Given the description of an element on the screen output the (x, y) to click on. 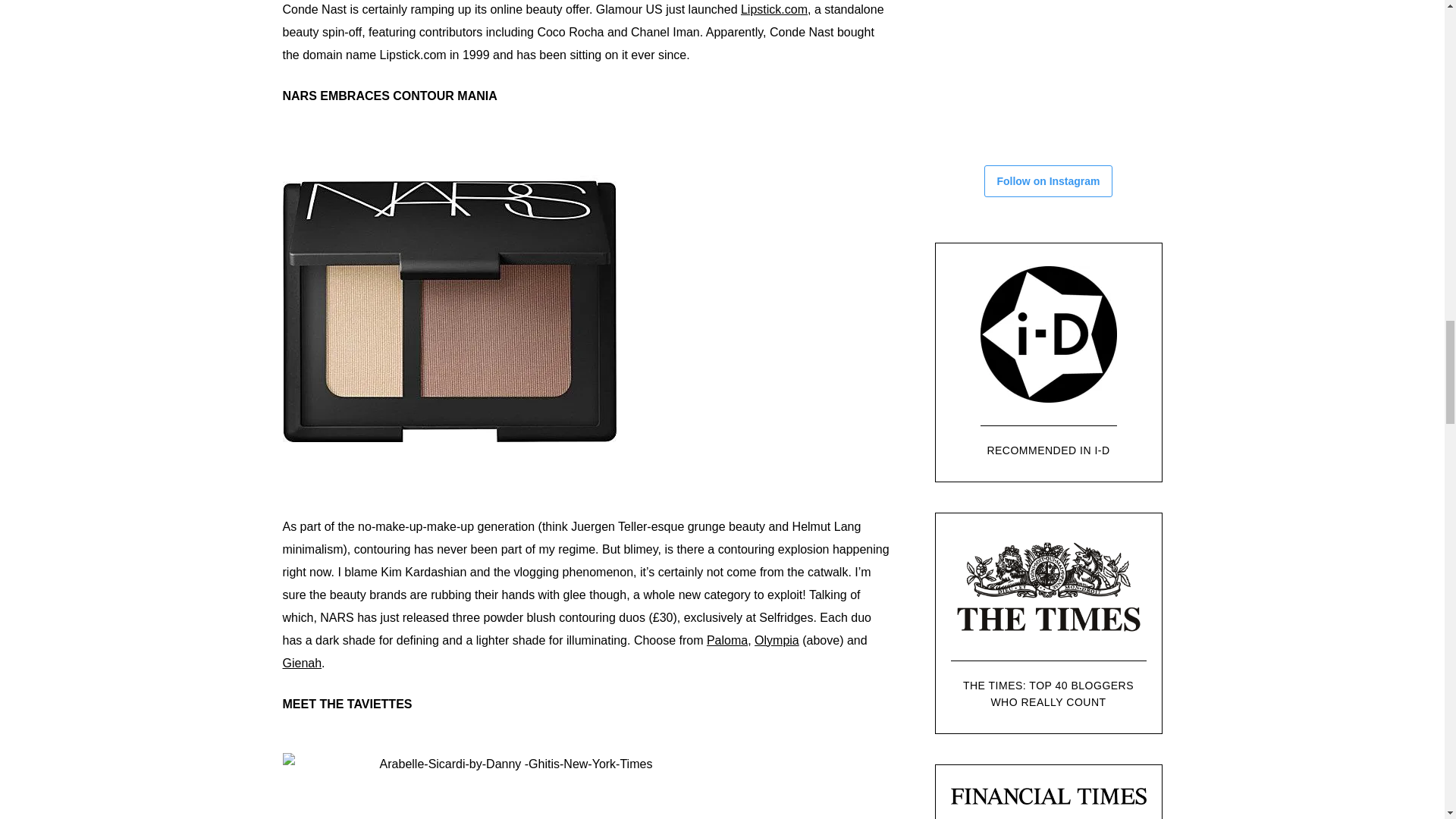
Lipstick.com (774, 9)
Gienah (301, 662)
Paloma (727, 640)
Olympia (776, 640)
